Given the description of an element on the screen output the (x, y) to click on. 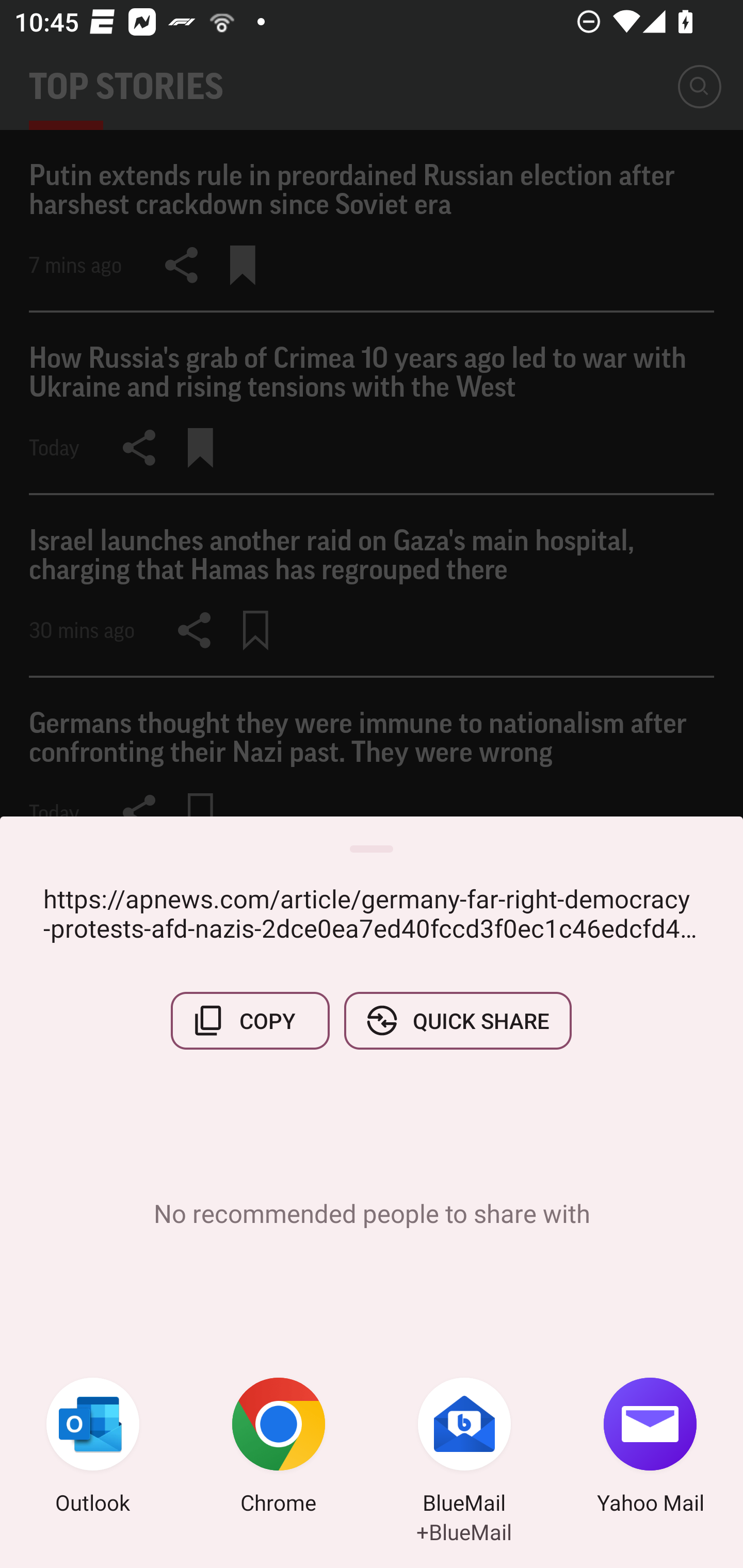
COPY (249, 1020)
QUICK SHARE (457, 1020)
Outlook (92, 1448)
Chrome (278, 1448)
BlueMail +BlueMail (464, 1448)
Yahoo Mail (650, 1448)
